Given the description of an element on the screen output the (x, y) to click on. 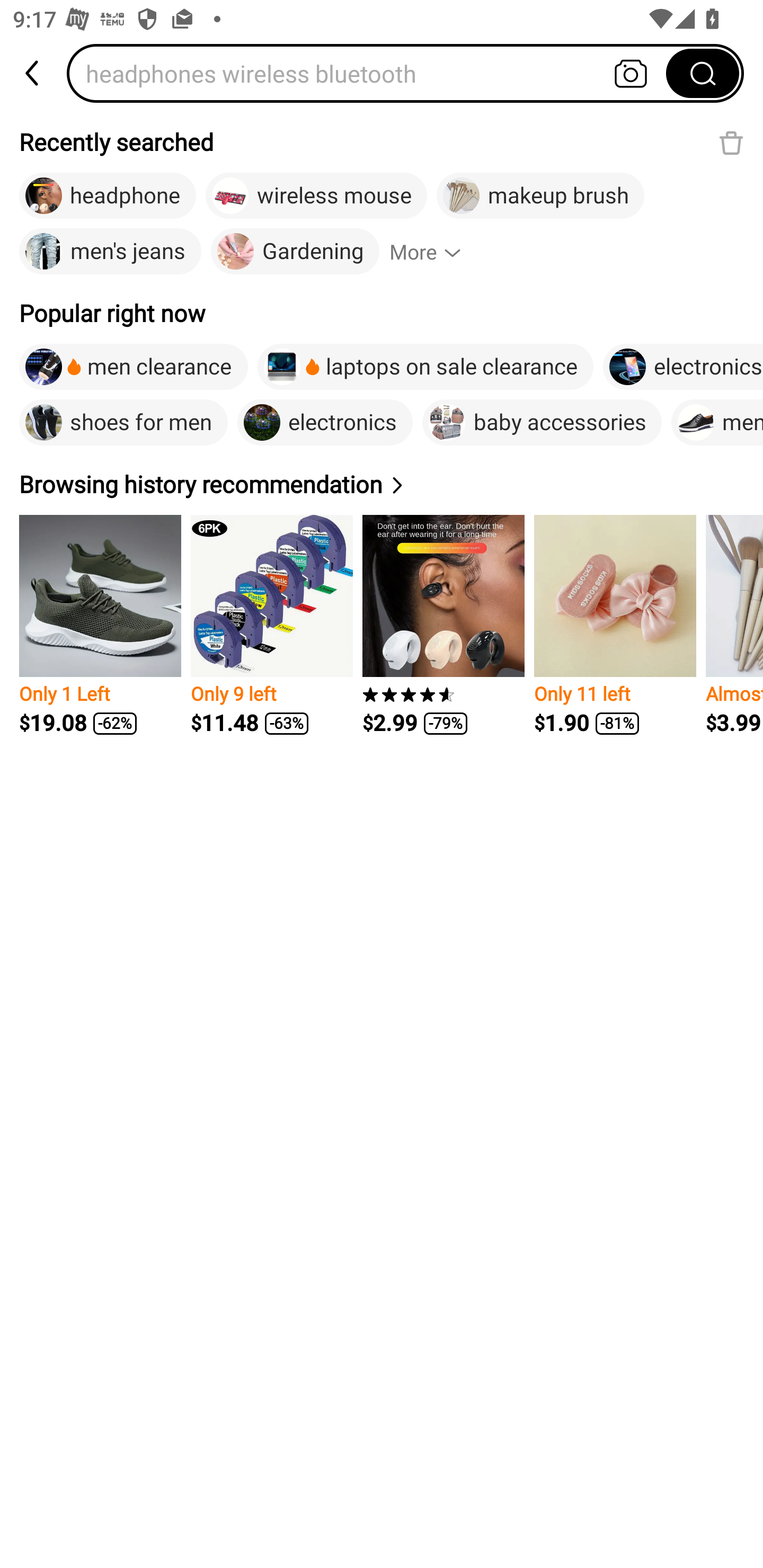
back (33, 72)
headphones wireless bluetooth (372, 73)
Search by photo (630, 73)
Delete recent search (731, 142)
headphone (107, 195)
wireless mouse (316, 195)
makeup brush (539, 195)
men's jeans (110, 251)
Gardening (294, 251)
More (433, 251)
men clearance (133, 366)
laptops on sale clearance (425, 366)
electronics clearance (682, 366)
shoes for men (123, 422)
electronics (324, 422)
baby accessories (541, 422)
mens sneakers (717, 422)
Browsing history recommendation (213, 484)
Only 1 Left $19.08 -62% (100, 625)
Only 9 left $11.48 -63% (271, 625)
$2.99 -79% (443, 625)
Only 11 left $1.90 -81% (614, 625)
